Given the description of an element on the screen output the (x, y) to click on. 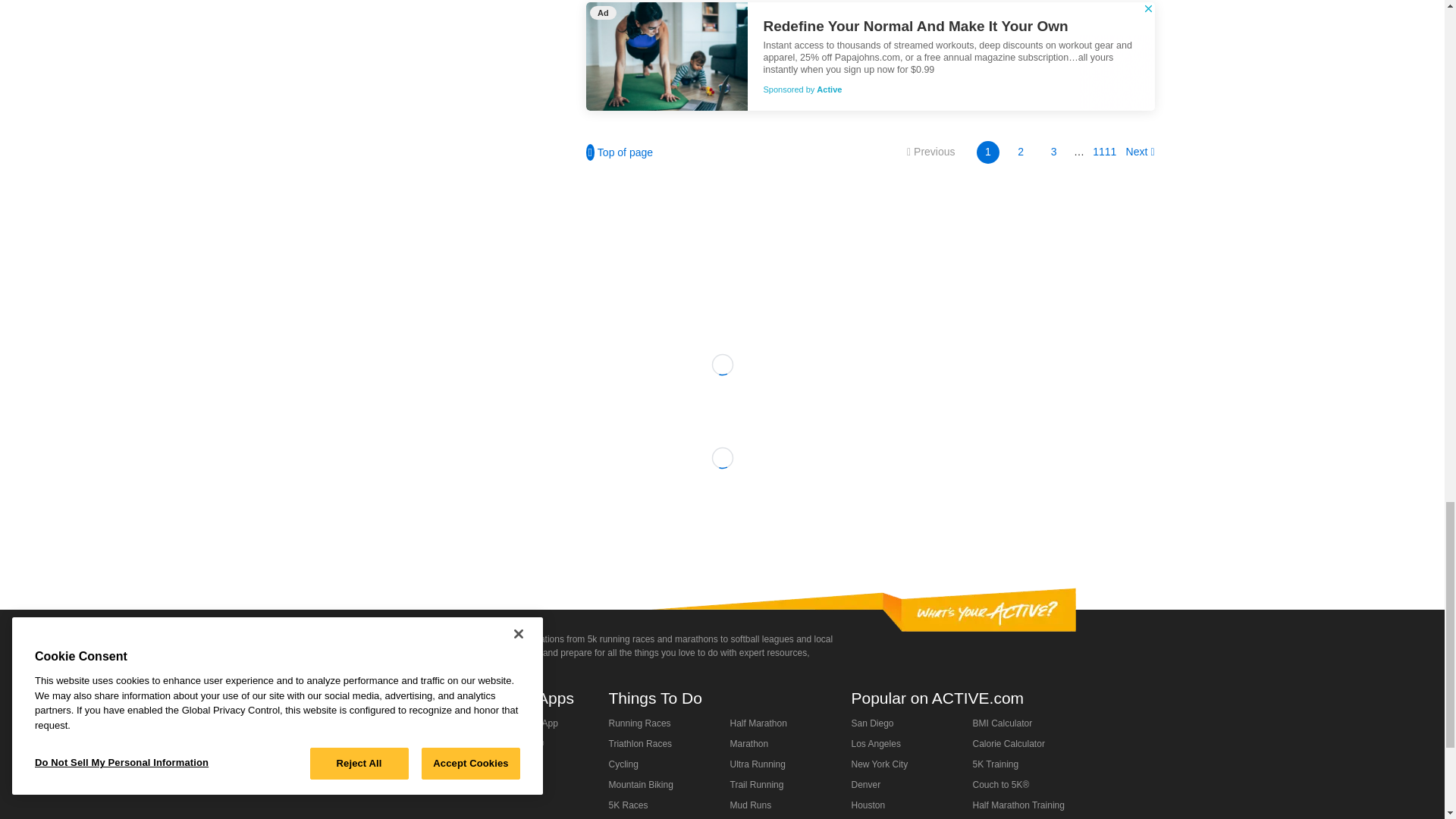
3rd party ad content (722, 530)
Top of page (618, 151)
3rd party ad content (721, 243)
3rd party ad content (869, 56)
